Given the description of an element on the screen output the (x, y) to click on. 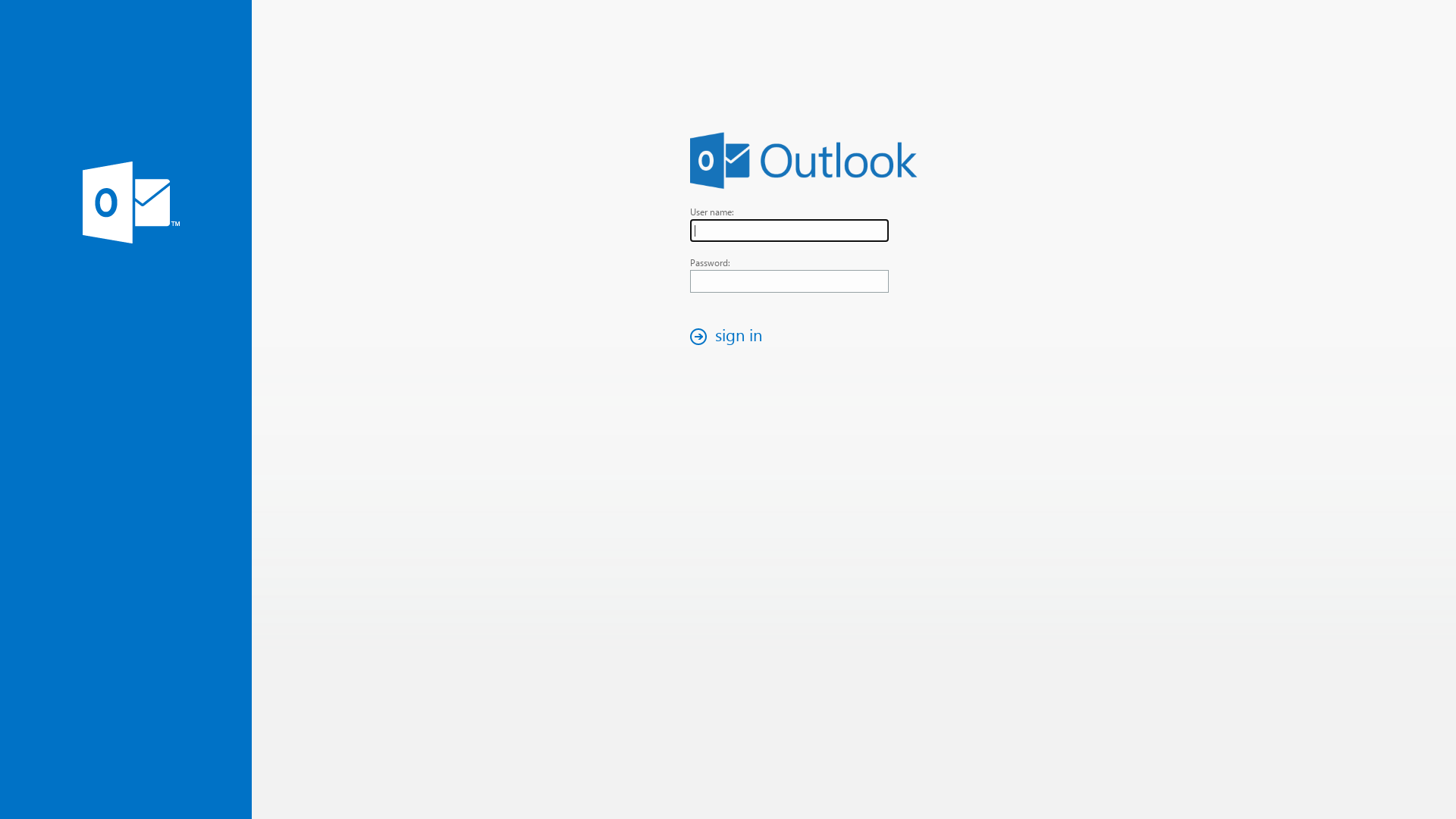
sign in Element type: text (730, 336)
